Given the description of an element on the screen output the (x, y) to click on. 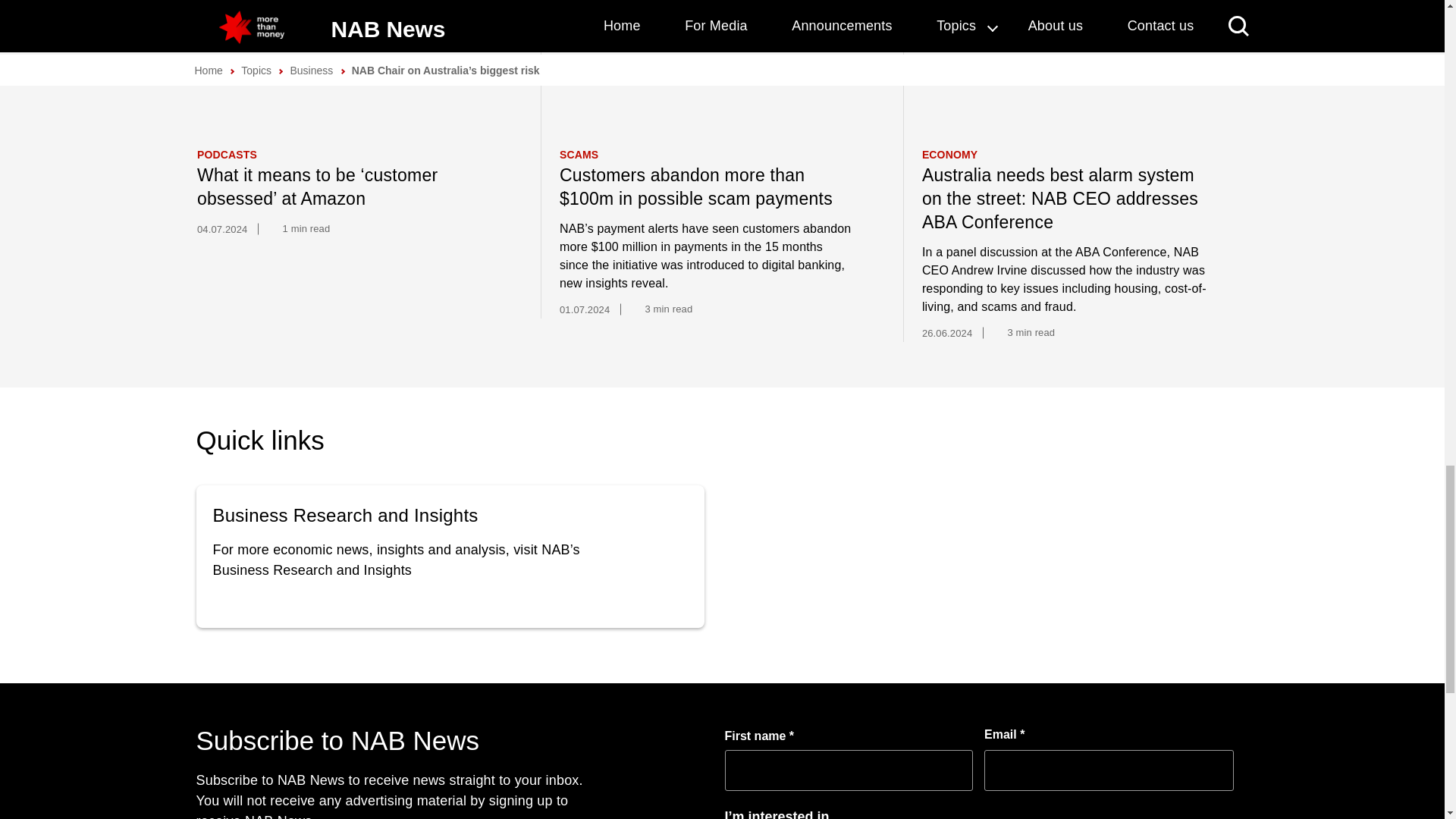
Find Our More (449, 556)
